Given the description of an element on the screen output the (x, y) to click on. 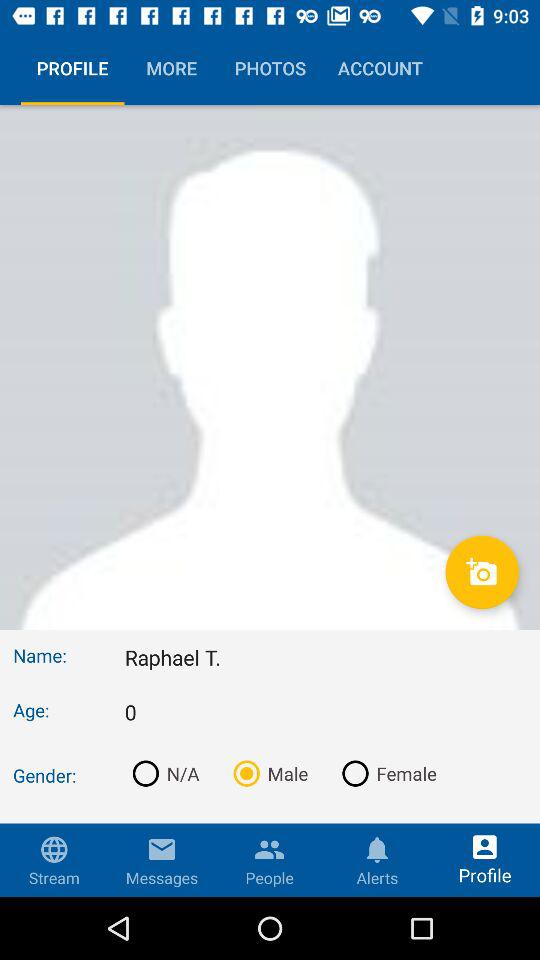
click the item below 0 icon (385, 773)
